Given the description of an element on the screen output the (x, y) to click on. 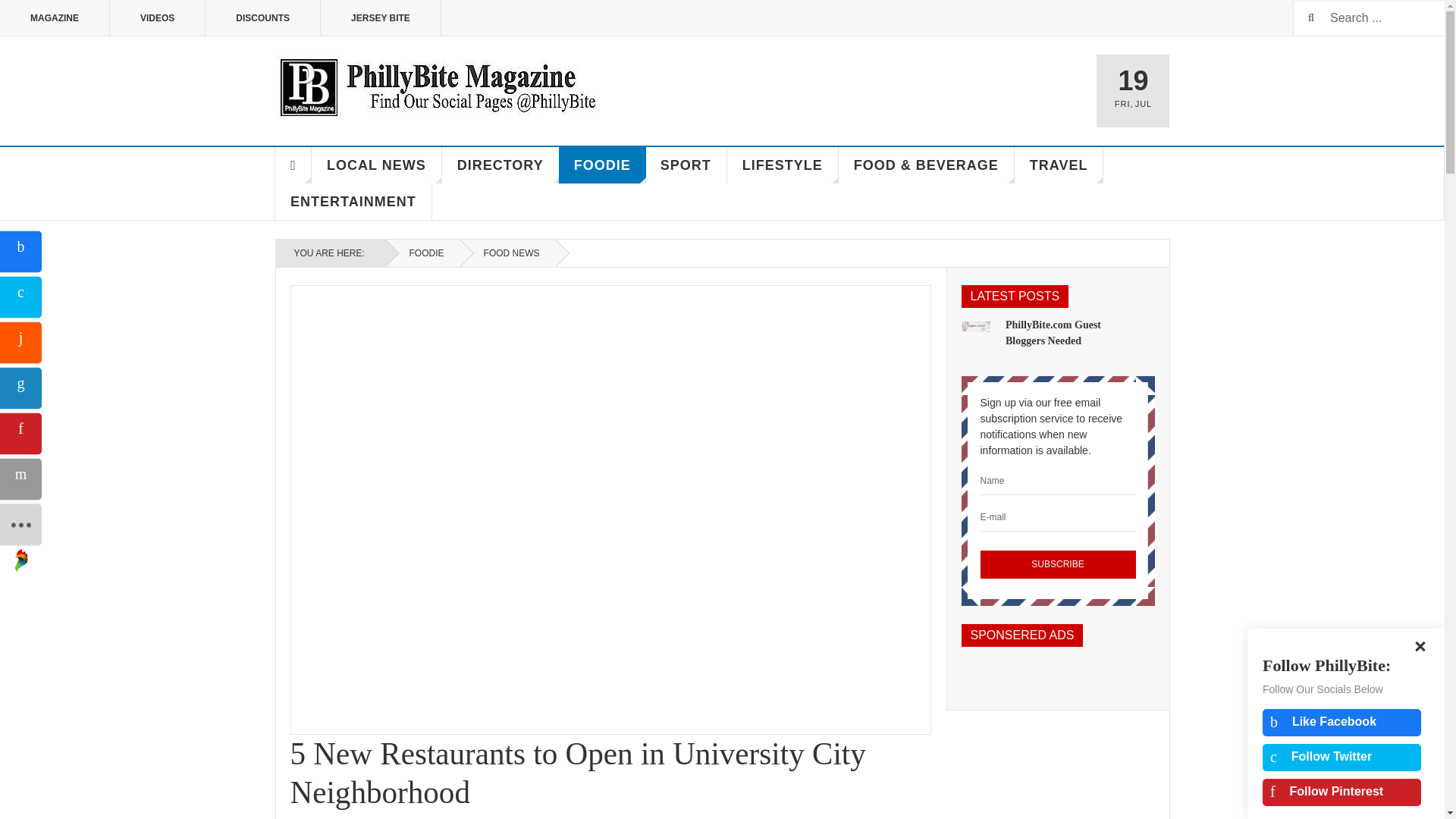
DISCOUNTS (262, 18)
MAGAZINE (55, 18)
SPORT (685, 165)
Name (1057, 480)
JERSEY BITE (380, 18)
LOCAL NEWS (376, 165)
ENTERTAINMENT (353, 201)
PhillyBite Magazine (436, 86)
FOODIE (422, 252)
E-mail (1057, 516)
DIRECTORY (500, 165)
Subscribe (1057, 564)
HOME (293, 165)
TRAVEL (1058, 165)
